Given the description of an element on the screen output the (x, y) to click on. 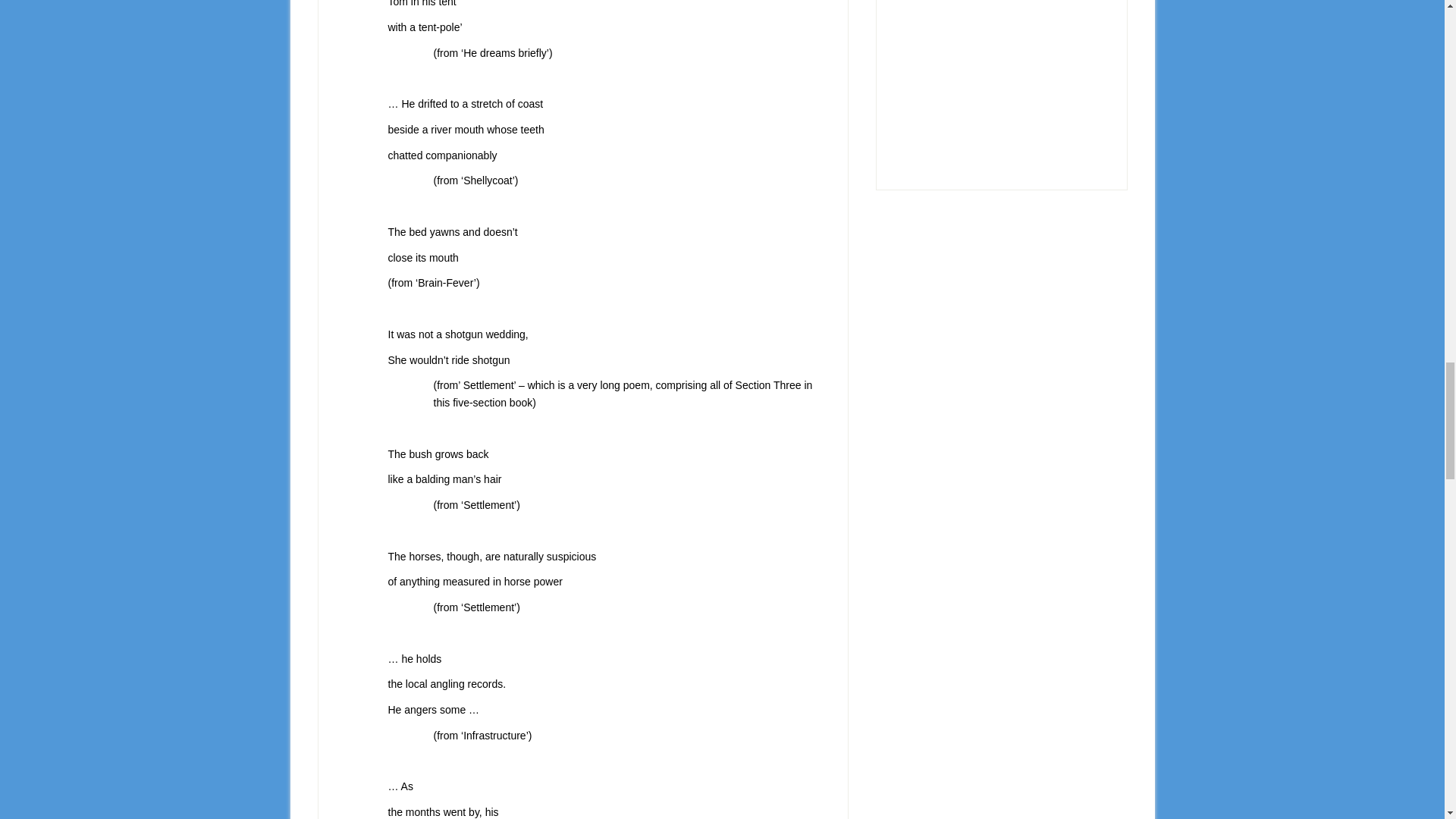
Charles Brasch Journals (1001, 73)
